Given the description of an element on the screen output the (x, y) to click on. 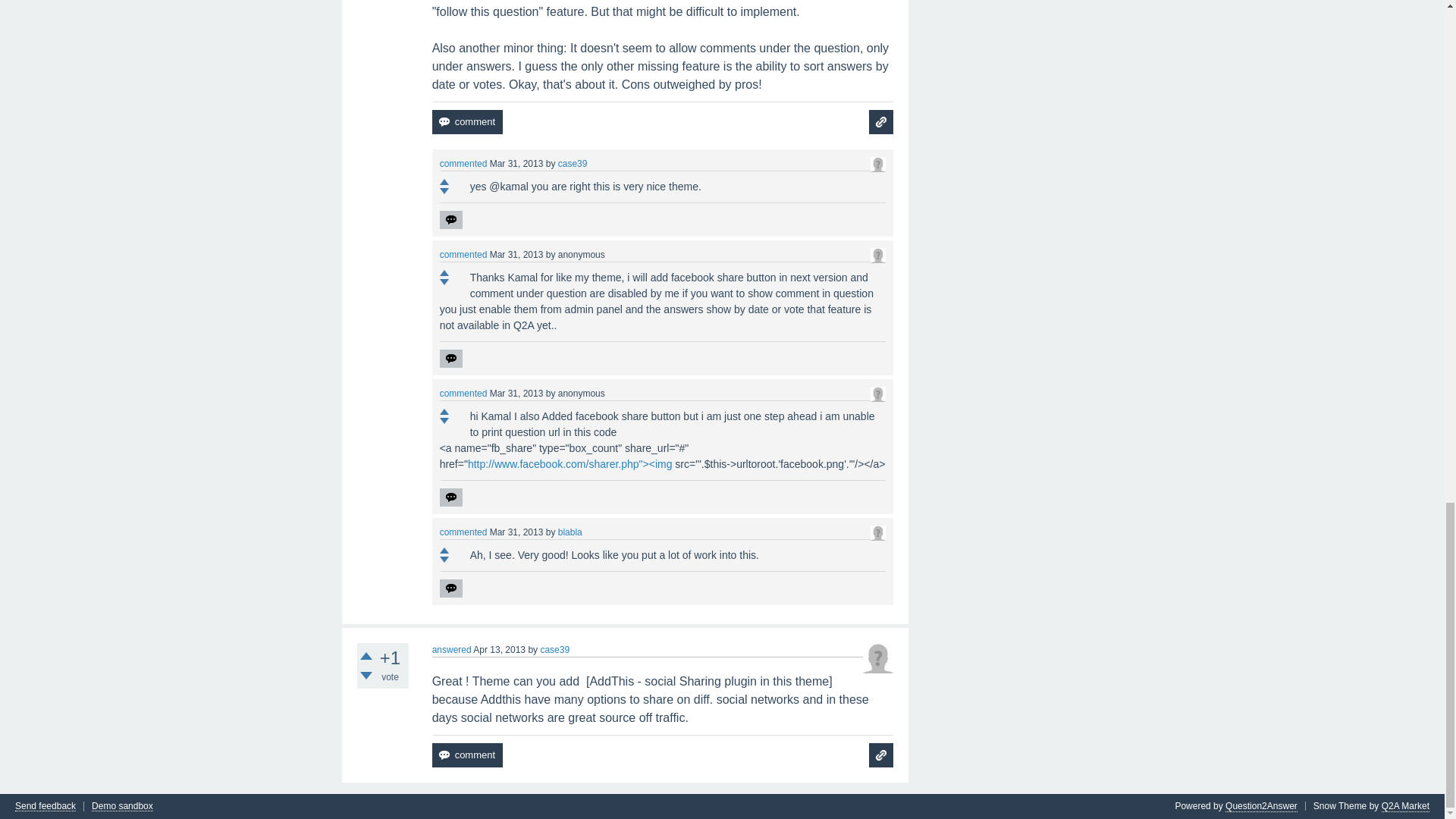
ask related question (881, 121)
reply (451, 219)
comment (467, 121)
